Given the description of an element on the screen output the (x, y) to click on. 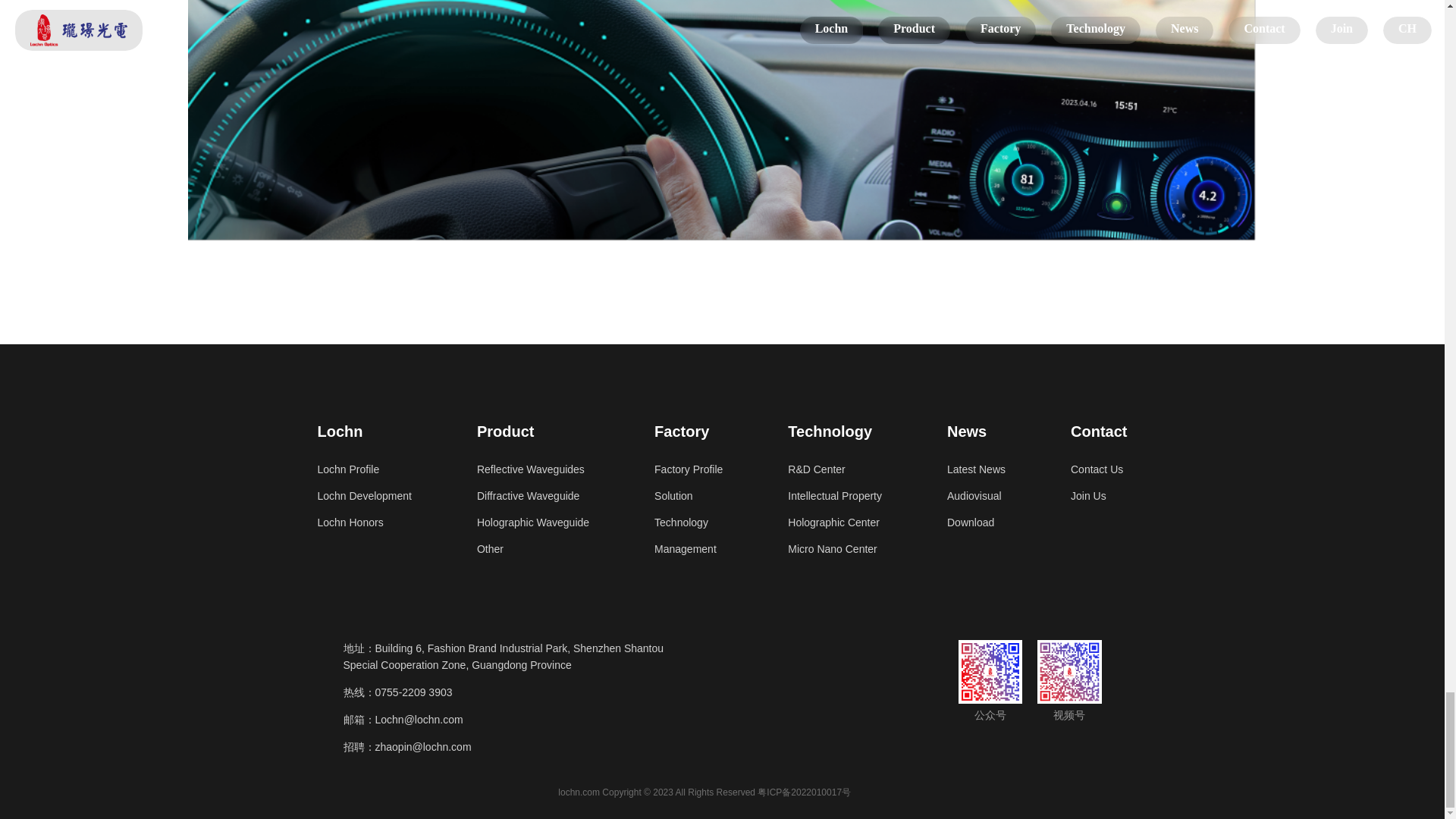
Solution (687, 495)
Factory Profile (687, 468)
Lochn Profile (364, 468)
Management (687, 548)
Intellectual Property (834, 495)
Audiovisual (976, 495)
Holographic Waveguide (533, 522)
Holographic Center (834, 522)
Lochn (364, 431)
Lochn Honors (364, 522)
Factory (687, 431)
Latest News (976, 468)
Lochn Development (364, 495)
Product (533, 431)
